Given the description of an element on the screen output the (x, y) to click on. 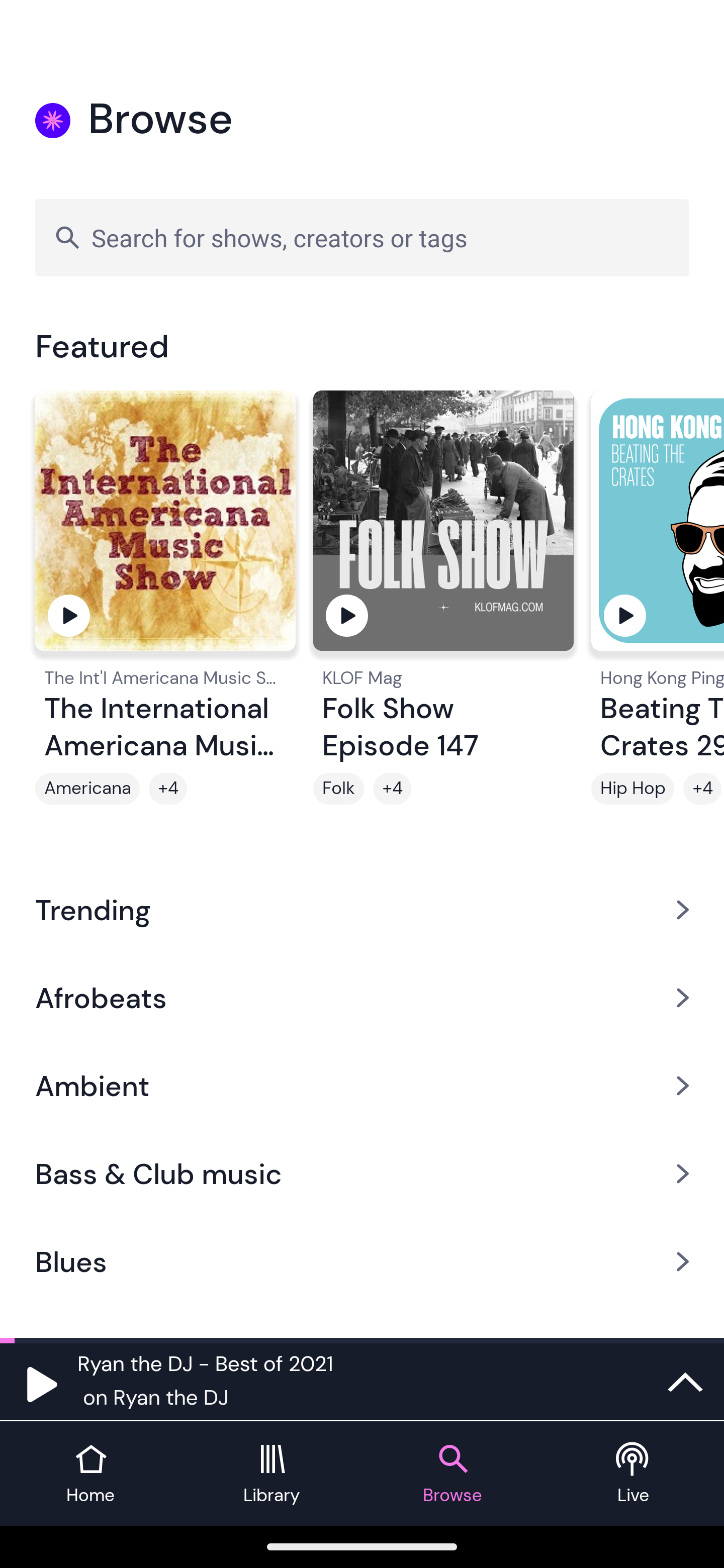
Search for shows, creators or tags (361, 237)
Americana (87, 788)
Folk (338, 788)
Hip Hop (632, 788)
Trending (361, 909)
Afrobeats (361, 997)
Ambient (361, 1085)
Bass & Club music (361, 1174)
Blues (361, 1262)
Home tab Home (90, 1473)
Library tab Library (271, 1473)
Browse tab Browse (452, 1473)
Live tab Live (633, 1473)
